Given the description of an element on the screen output the (x, y) to click on. 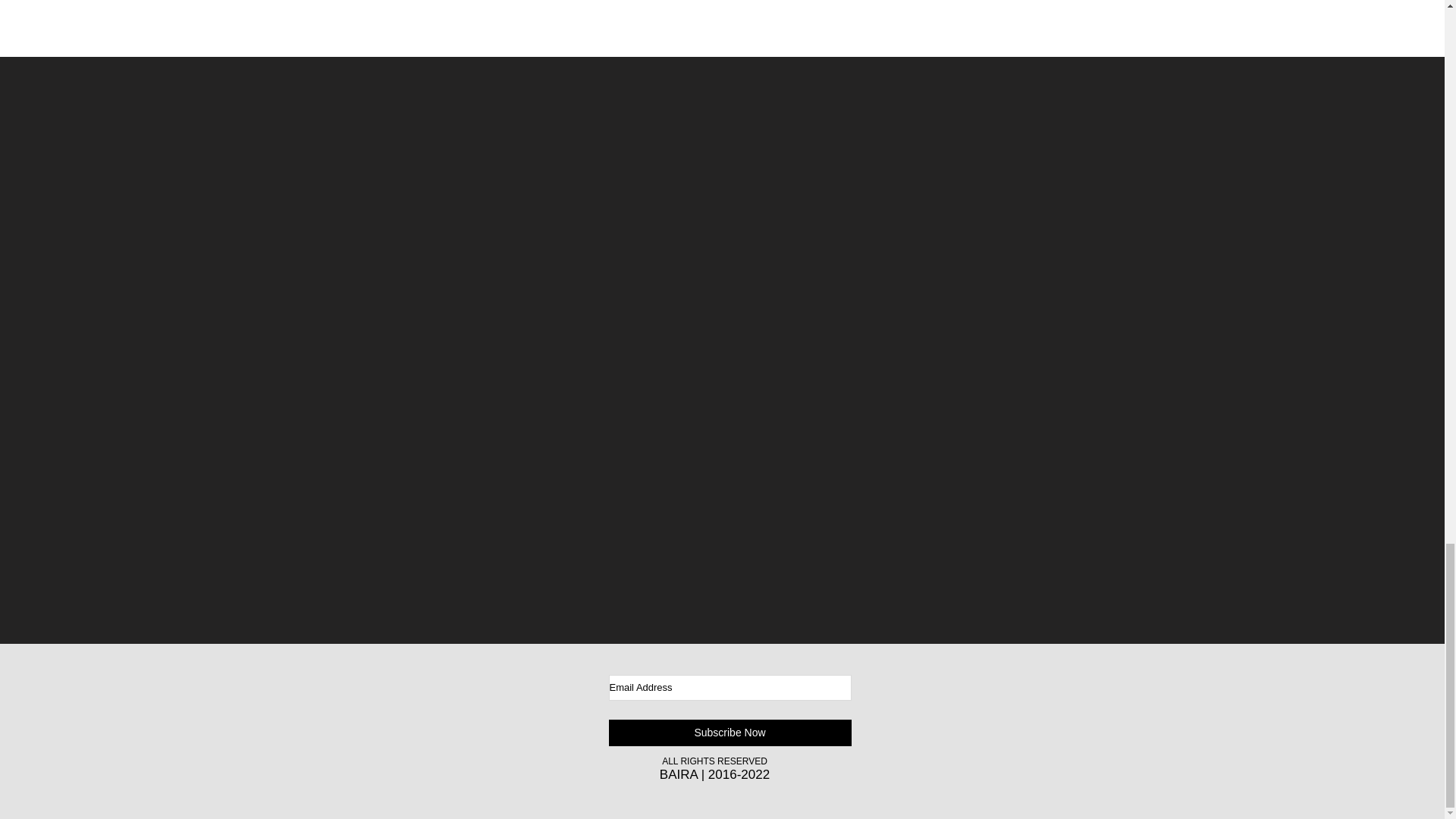
Subscribe Now (729, 732)
